Given the description of an element on the screen output the (x, y) to click on. 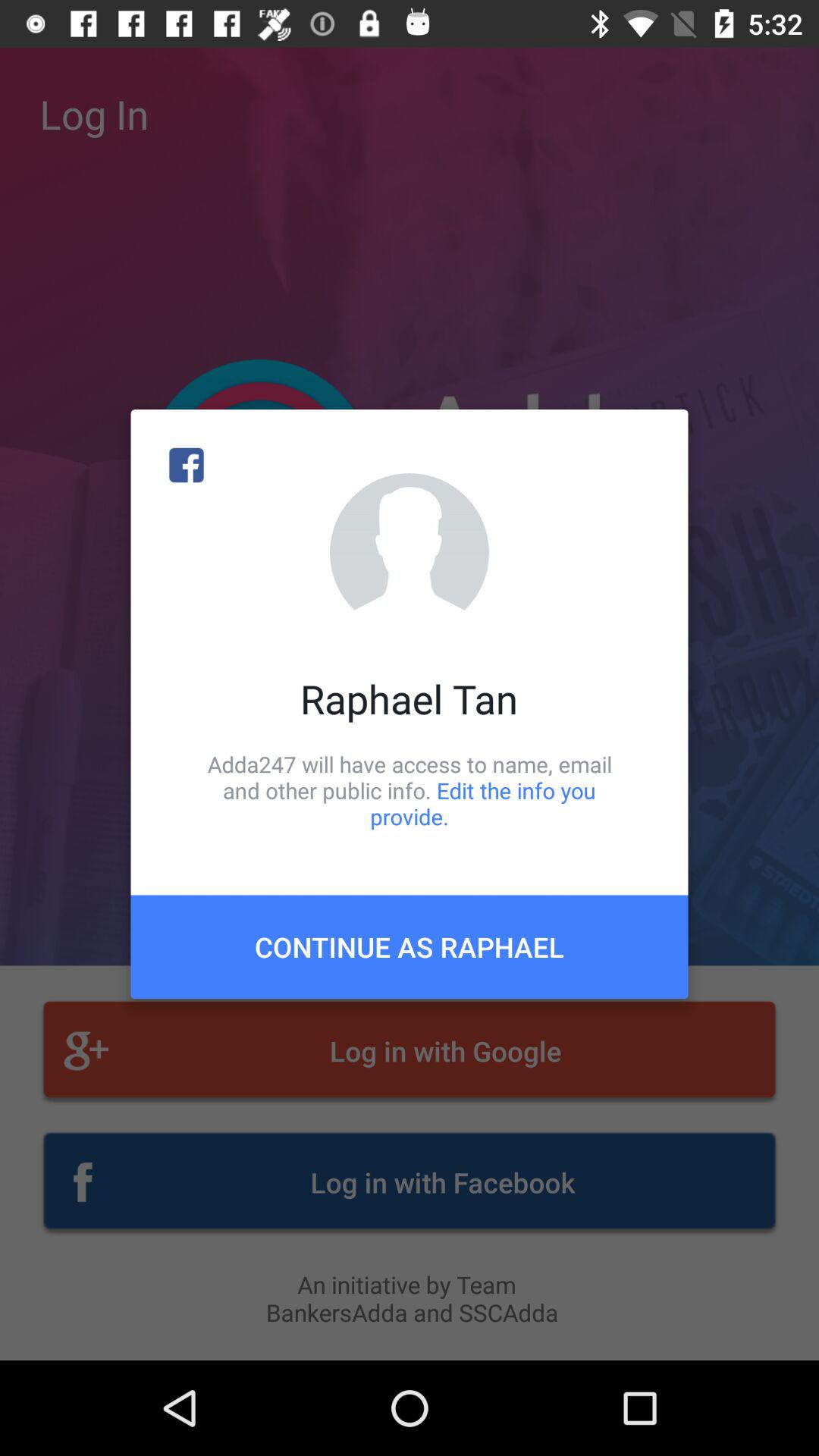
launch the item below raphael tan icon (409, 790)
